Given the description of an element on the screen output the (x, y) to click on. 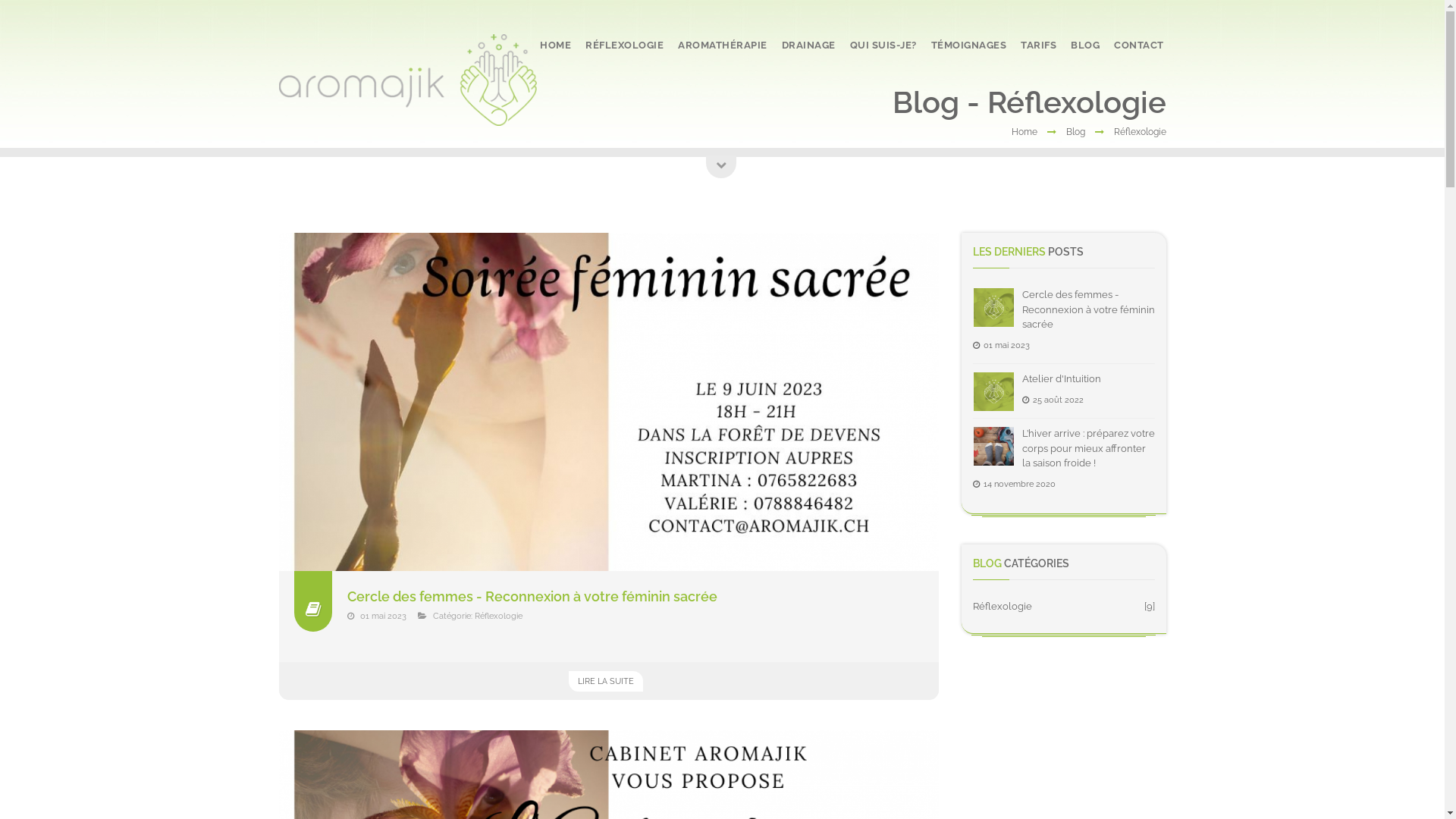
QUI SUIS-JE? Element type: text (882, 45)
BLOG Element type: text (1084, 45)
HOME Element type: text (555, 45)
DRAINAGE Element type: text (807, 45)
Atelier d'Intuition Element type: text (1061, 378)
LIRE LA SUITE Element type: text (605, 681)
Home Element type: text (1024, 131)
TARIFS Element type: text (1038, 45)
CONTACT Element type: text (1138, 45)
Blog Element type: text (1075, 131)
